Given the description of an element on the screen output the (x, y) to click on. 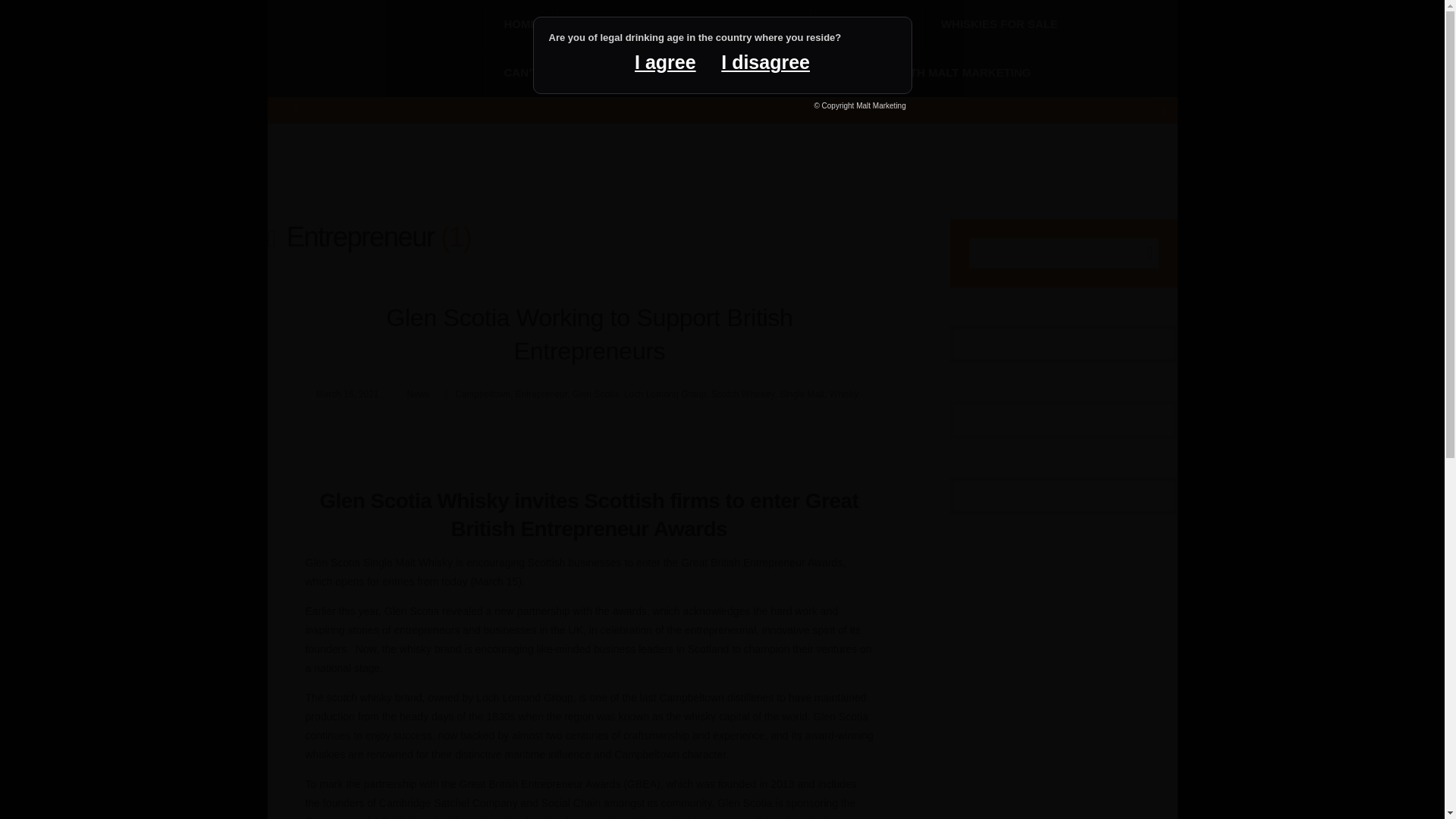
I agree (665, 62)
Glen Scotia (595, 394)
Search (1142, 252)
Glen Scotia Working to Support British Entrepreneurs (588, 333)
HOME (520, 24)
Scotch Whiskey (742, 394)
Campbeltown (473, 394)
Entrepreneur (541, 394)
WHISKIES FOR SALE (999, 24)
News (408, 394)
TOURS (762, 24)
Single Malt (801, 394)
Whisky (844, 394)
I disagree (765, 62)
SELL YOUR WHISKY WITH MALT MARKETING (904, 72)
